Given the description of an element on the screen output the (x, y) to click on. 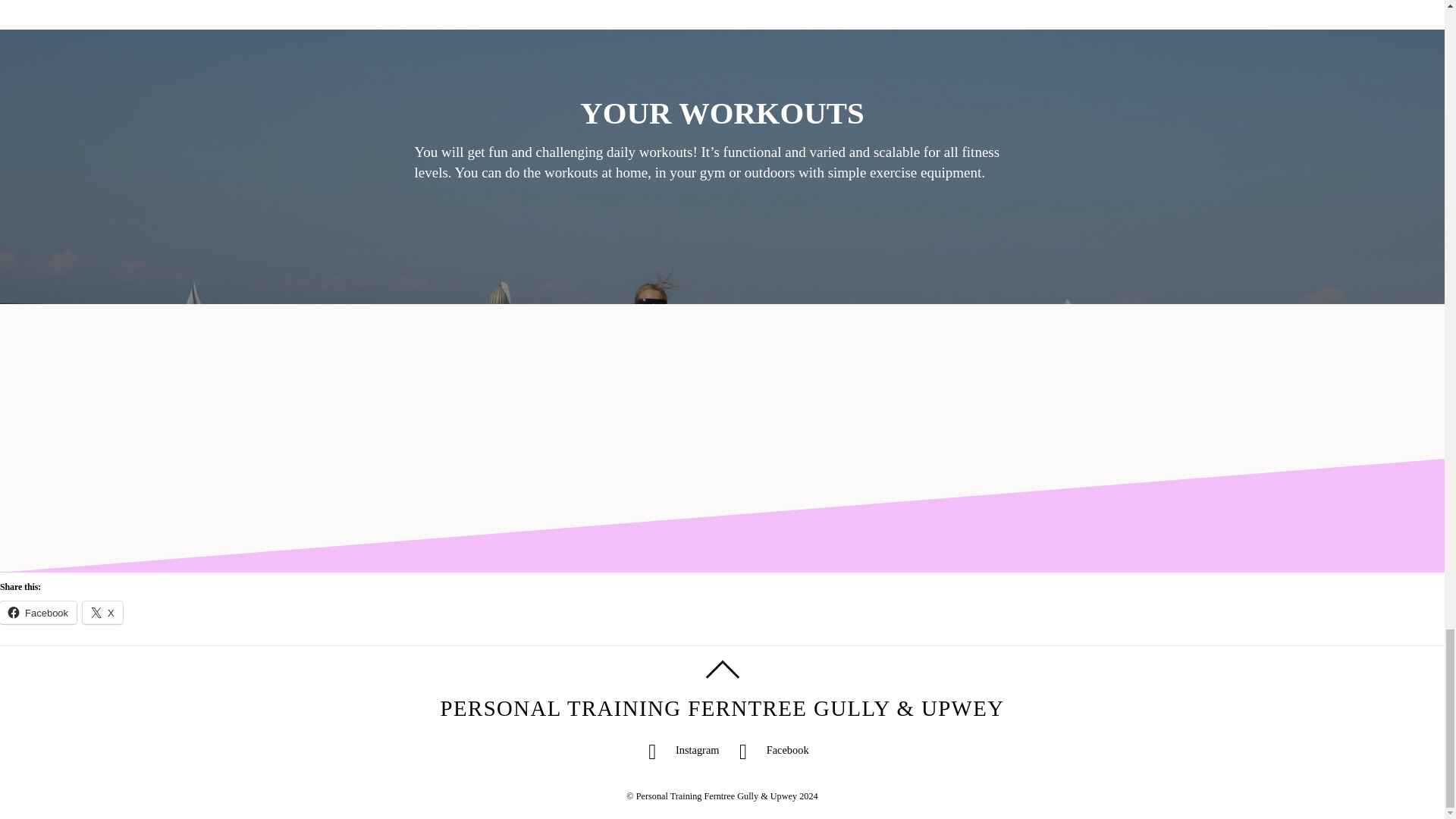
Click to share on X (102, 612)
Click to share on Facebook (38, 612)
Facebook (38, 612)
Instagram (678, 749)
Facebook (768, 749)
X (102, 612)
